Given the description of an element on the screen output the (x, y) to click on. 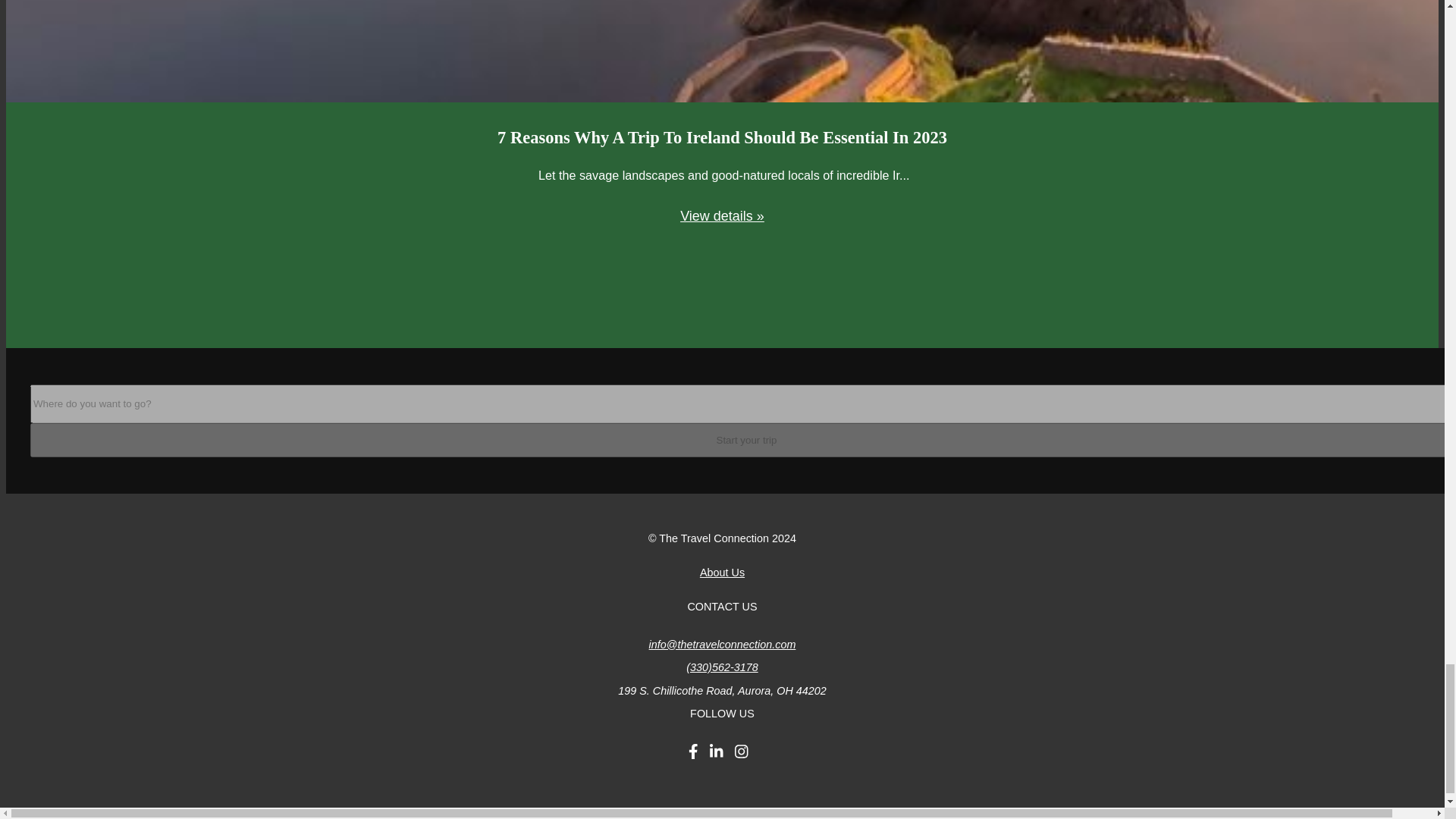
About Us (722, 572)
Start your trip (743, 440)
